Given the description of an element on the screen output the (x, y) to click on. 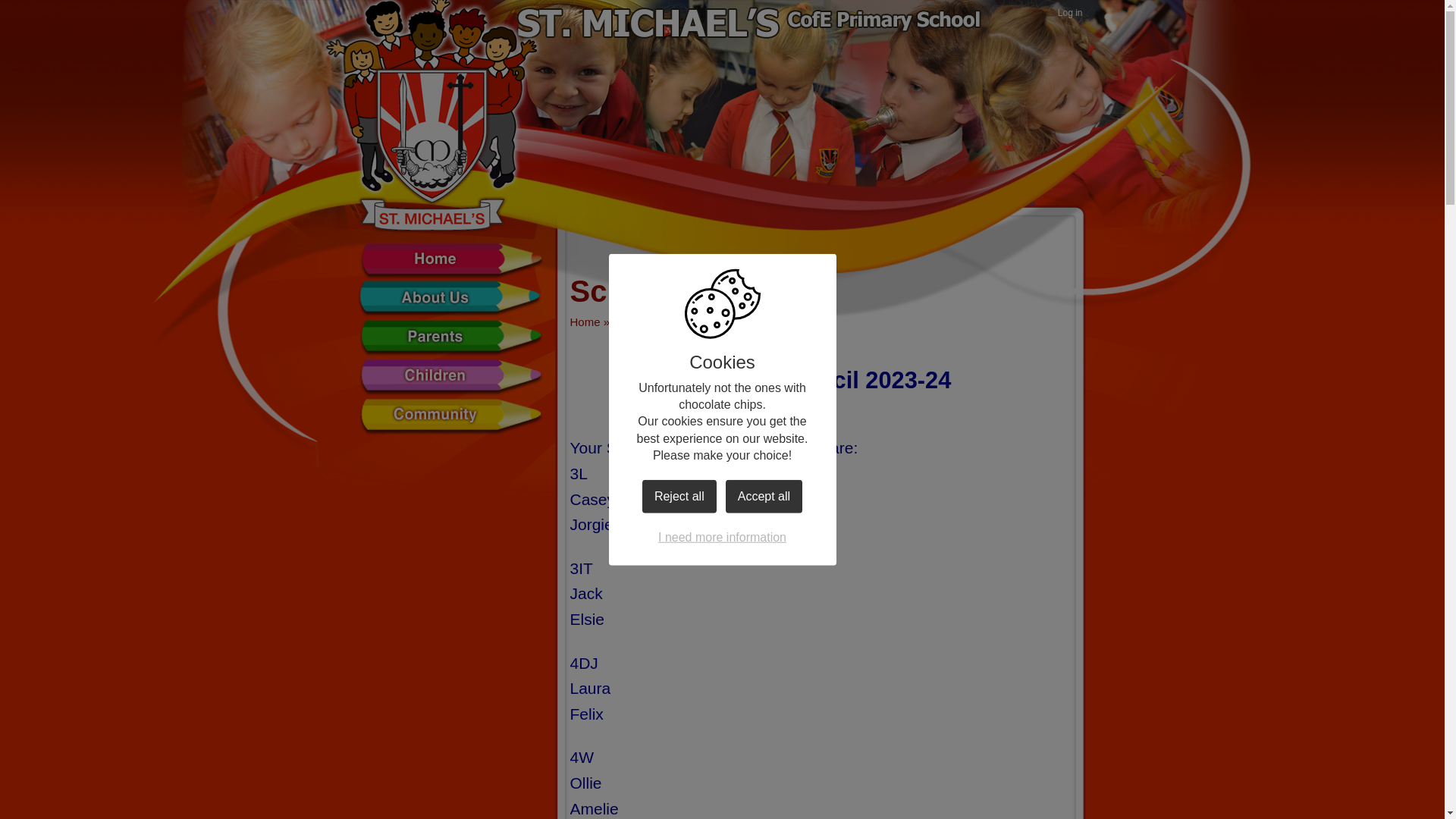
Home Page (431, 149)
Home (584, 321)
Children (632, 321)
School Council (703, 321)
Home Page (431, 149)
Home (449, 261)
Log in (1070, 13)
About Us (449, 300)
